Given the description of an element on the screen output the (x, y) to click on. 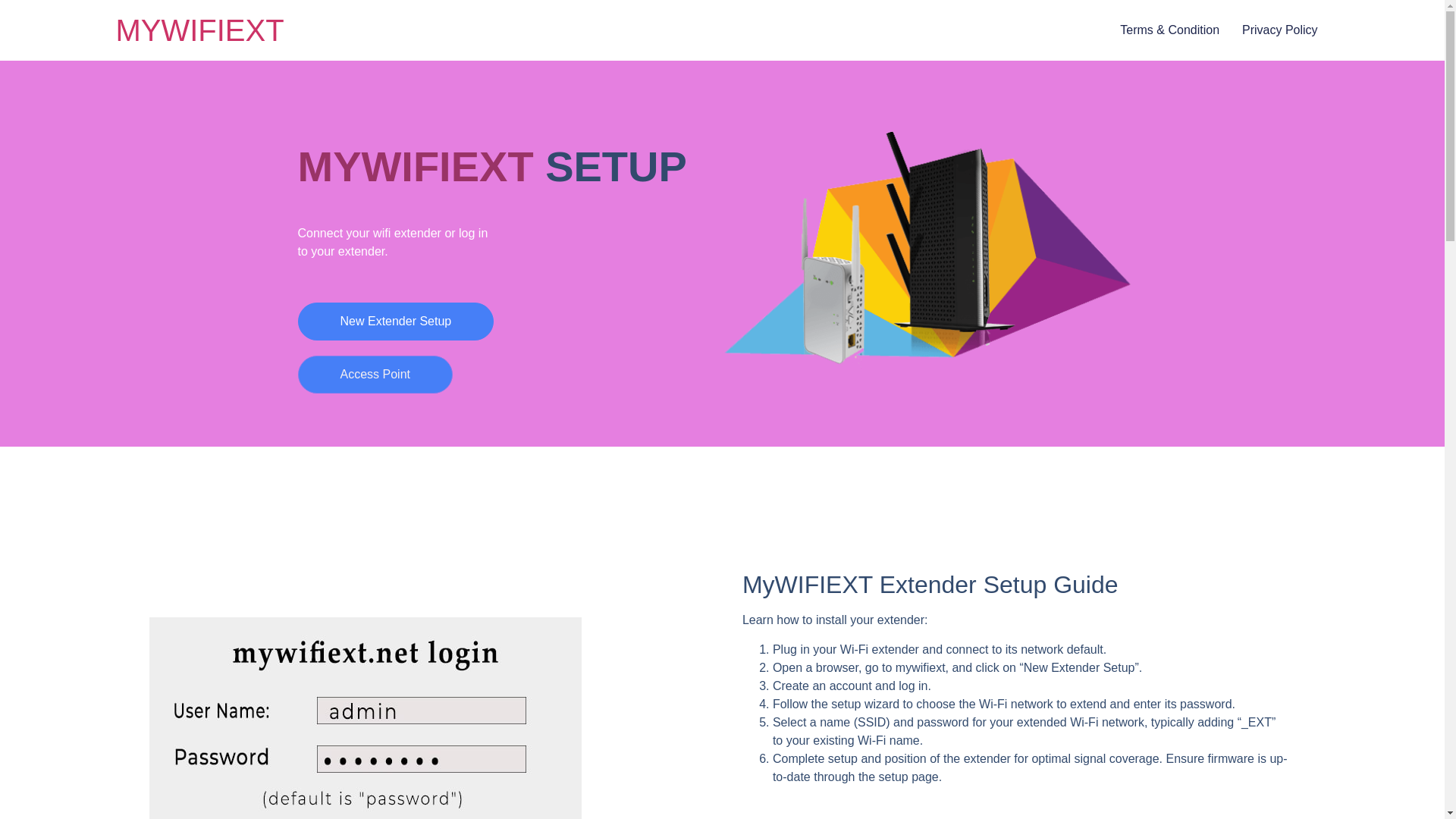
Access Point (374, 374)
MYWIFIEXT (199, 29)
Home (199, 29)
New Extender Setup (395, 321)
Privacy Policy (1279, 30)
